Given the description of an element on the screen output the (x, y) to click on. 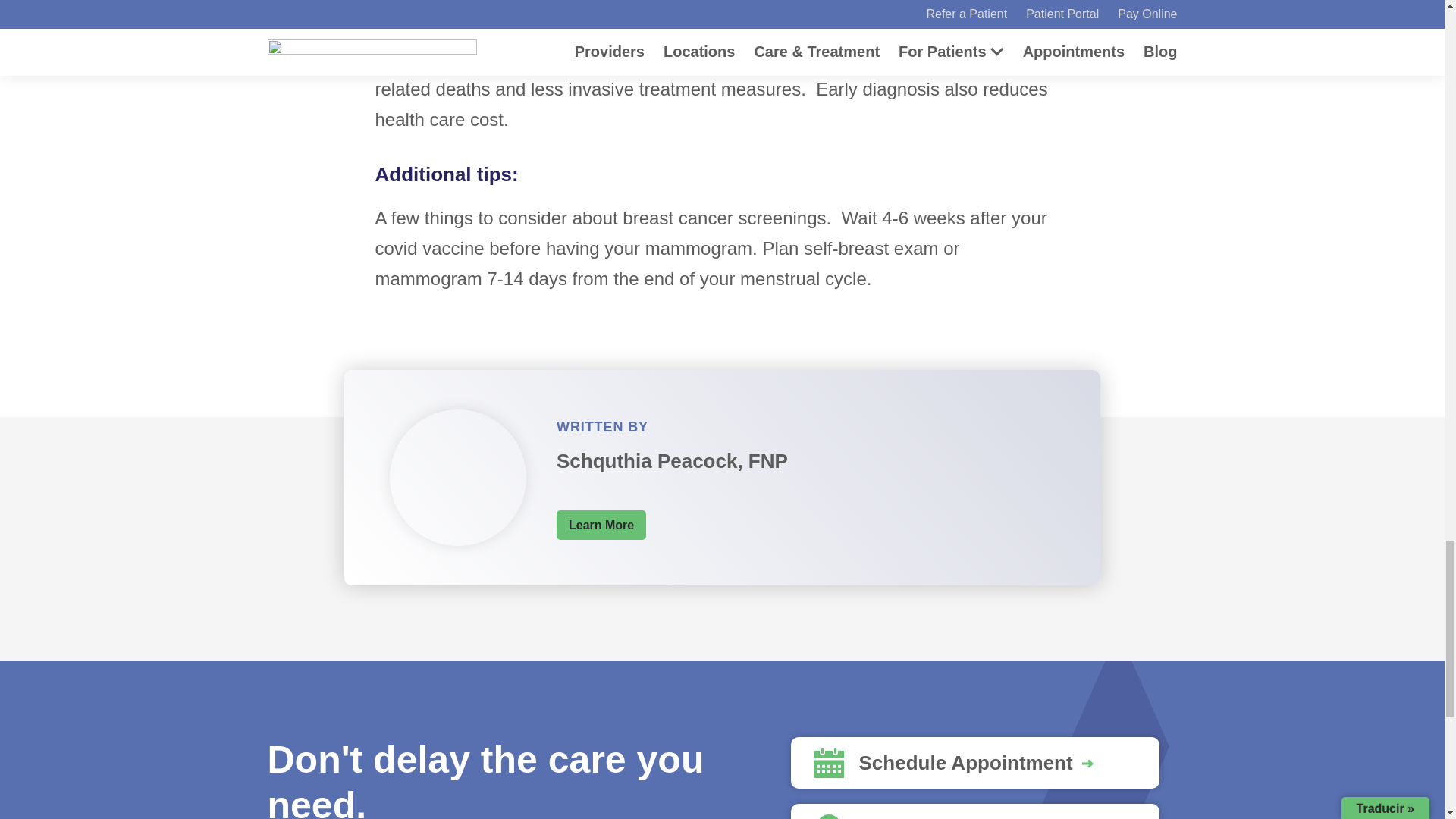
Learn More (601, 524)
Schedule Appointment (974, 762)
Find a Location (974, 811)
